Given the description of an element on the screen output the (x, y) to click on. 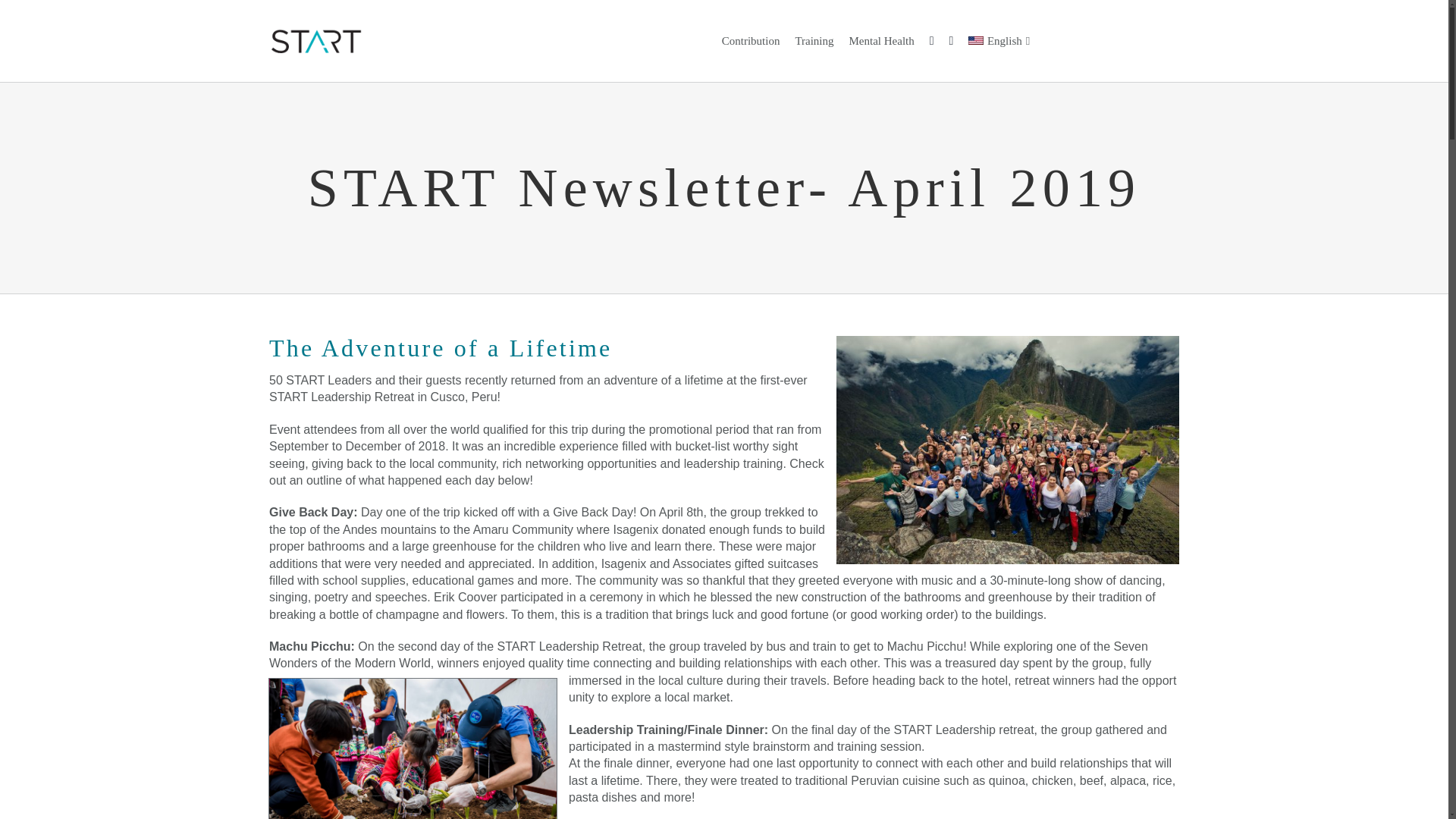
Training (813, 40)
Mental Health (881, 40)
English (994, 40)
Contribution (750, 40)
English (994, 40)
